Given the description of an element on the screen output the (x, y) to click on. 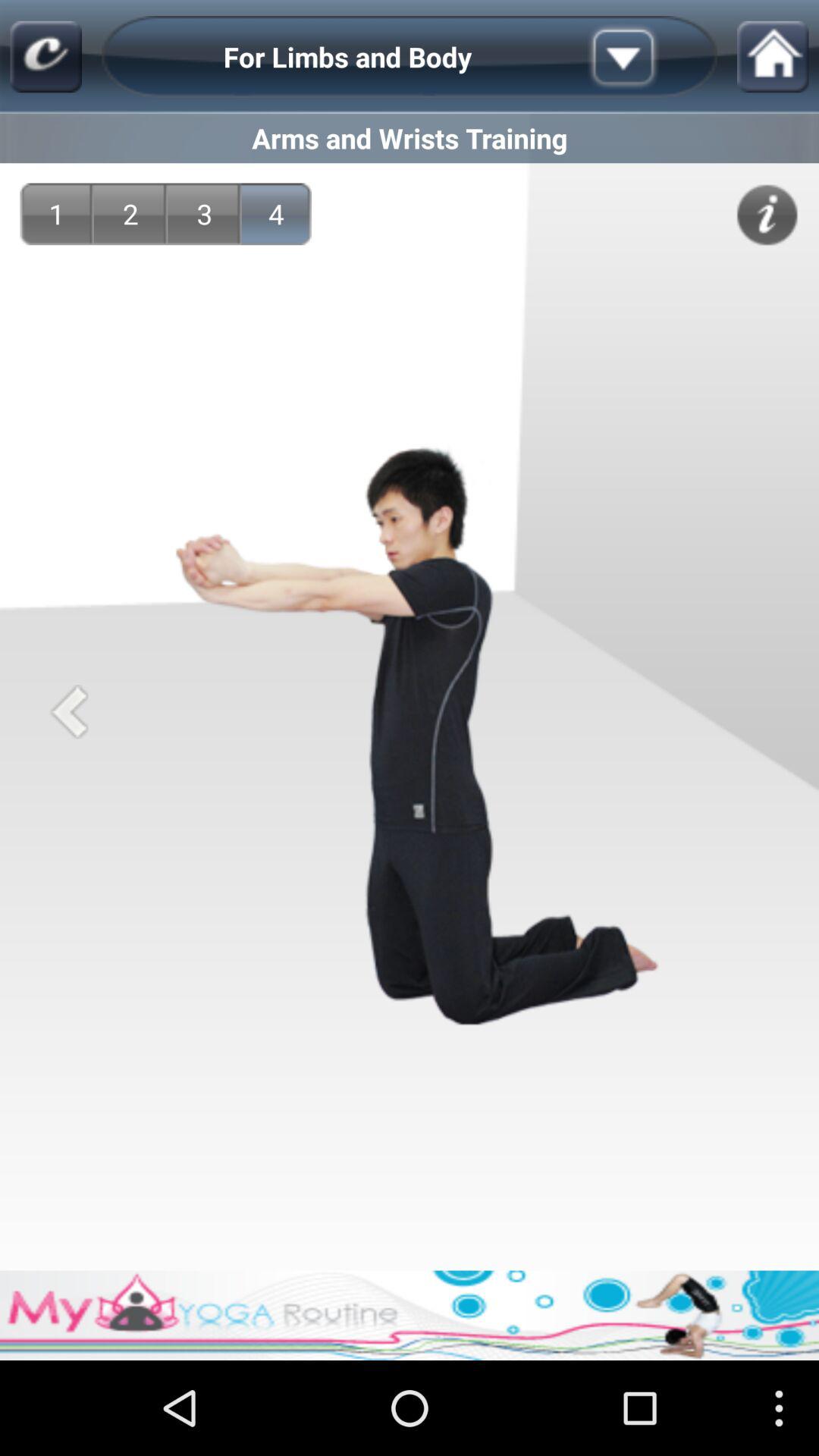
get more information (767, 214)
